Given the description of an element on the screen output the (x, y) to click on. 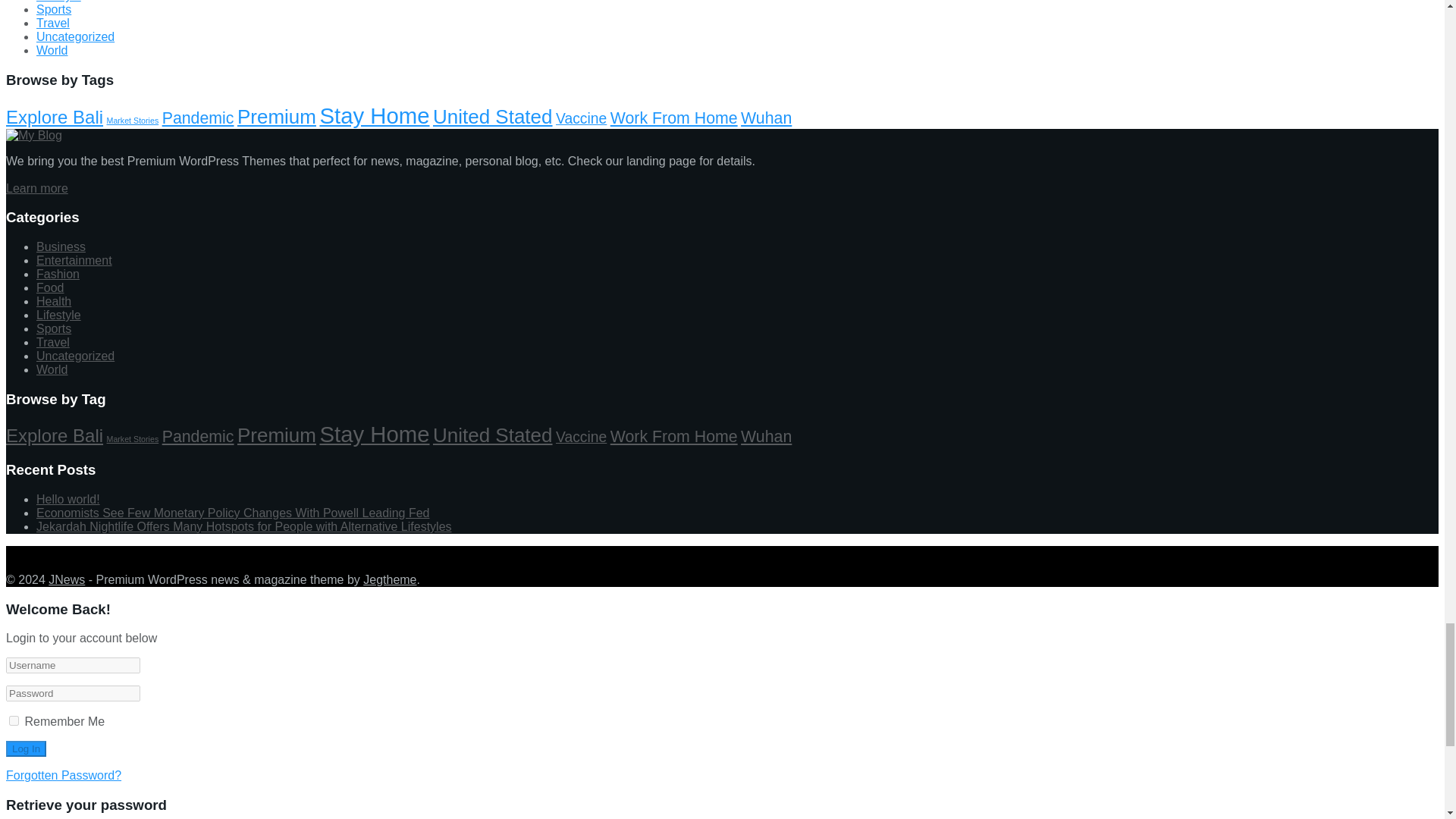
true (13, 720)
Jegtheme (389, 579)
Log In (25, 748)
